Given the description of an element on the screen output the (x, y) to click on. 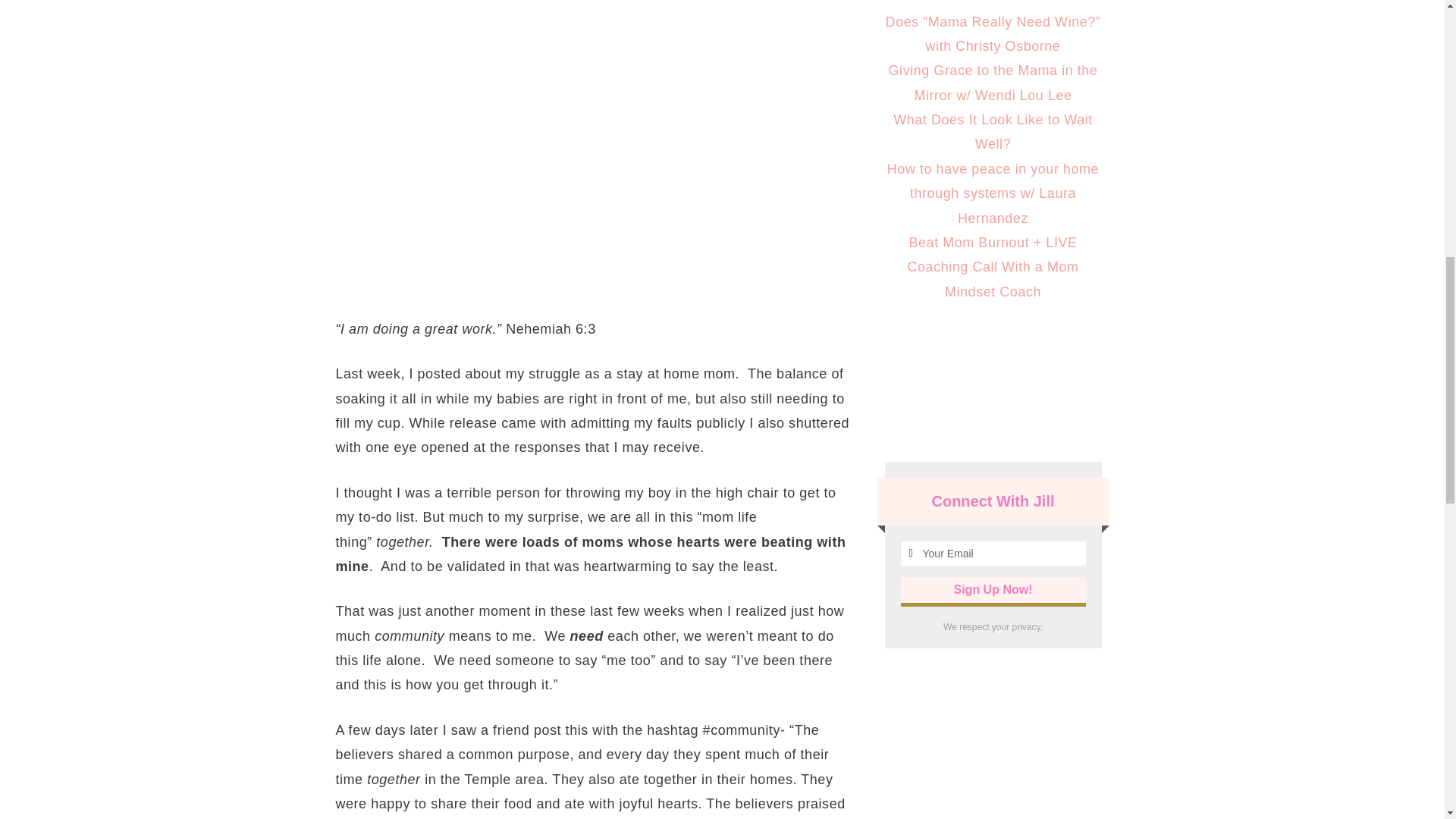
What Does It Look Like to Wait Well? (993, 131)
Sign Up Now! (993, 589)
Sign Up Now! (993, 589)
